Given the description of an element on the screen output the (x, y) to click on. 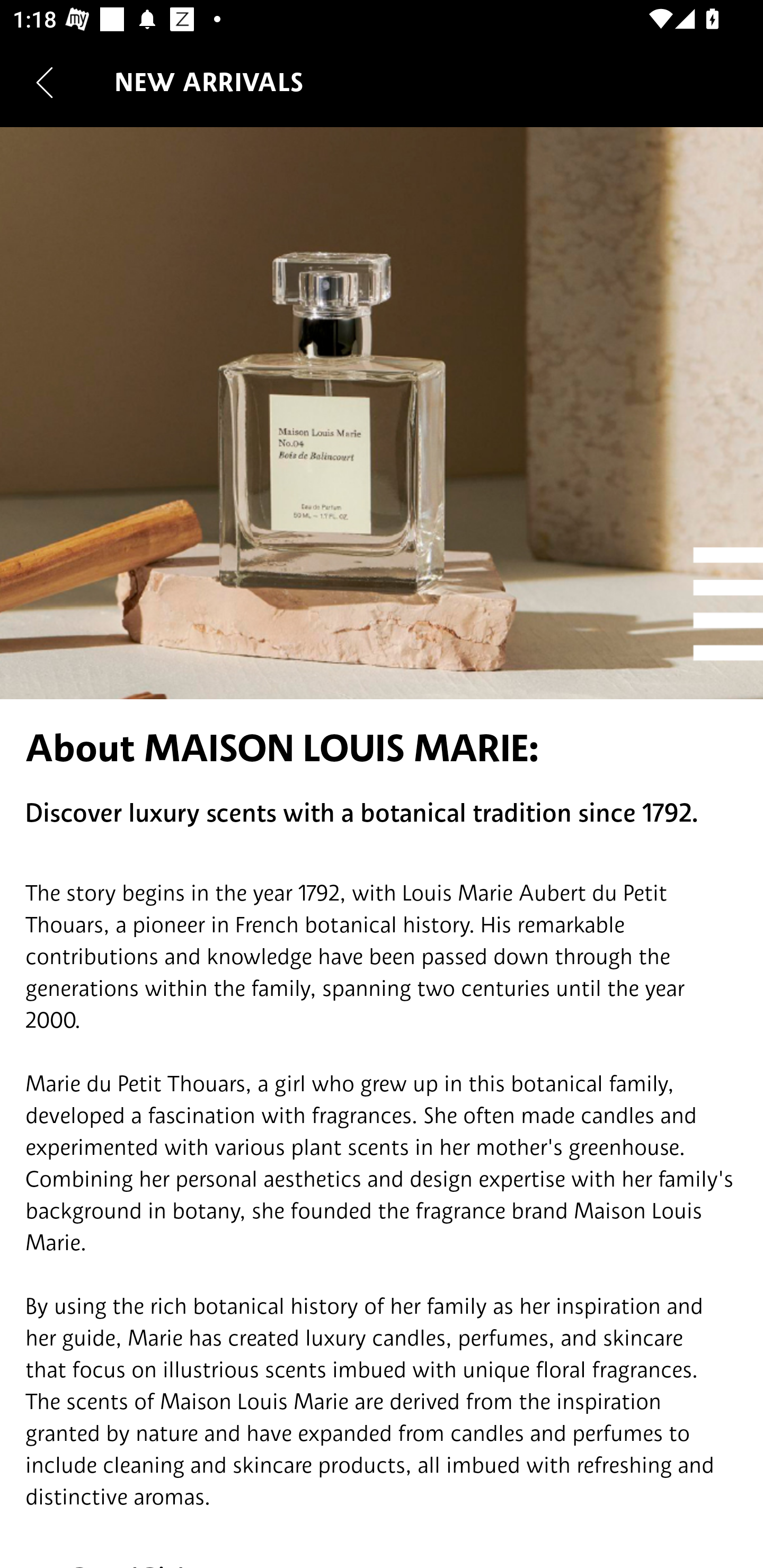
Navigate up (44, 82)
About MAISON LOUIS MARIE: (381, 747)
